Given the description of an element on the screen output the (x, y) to click on. 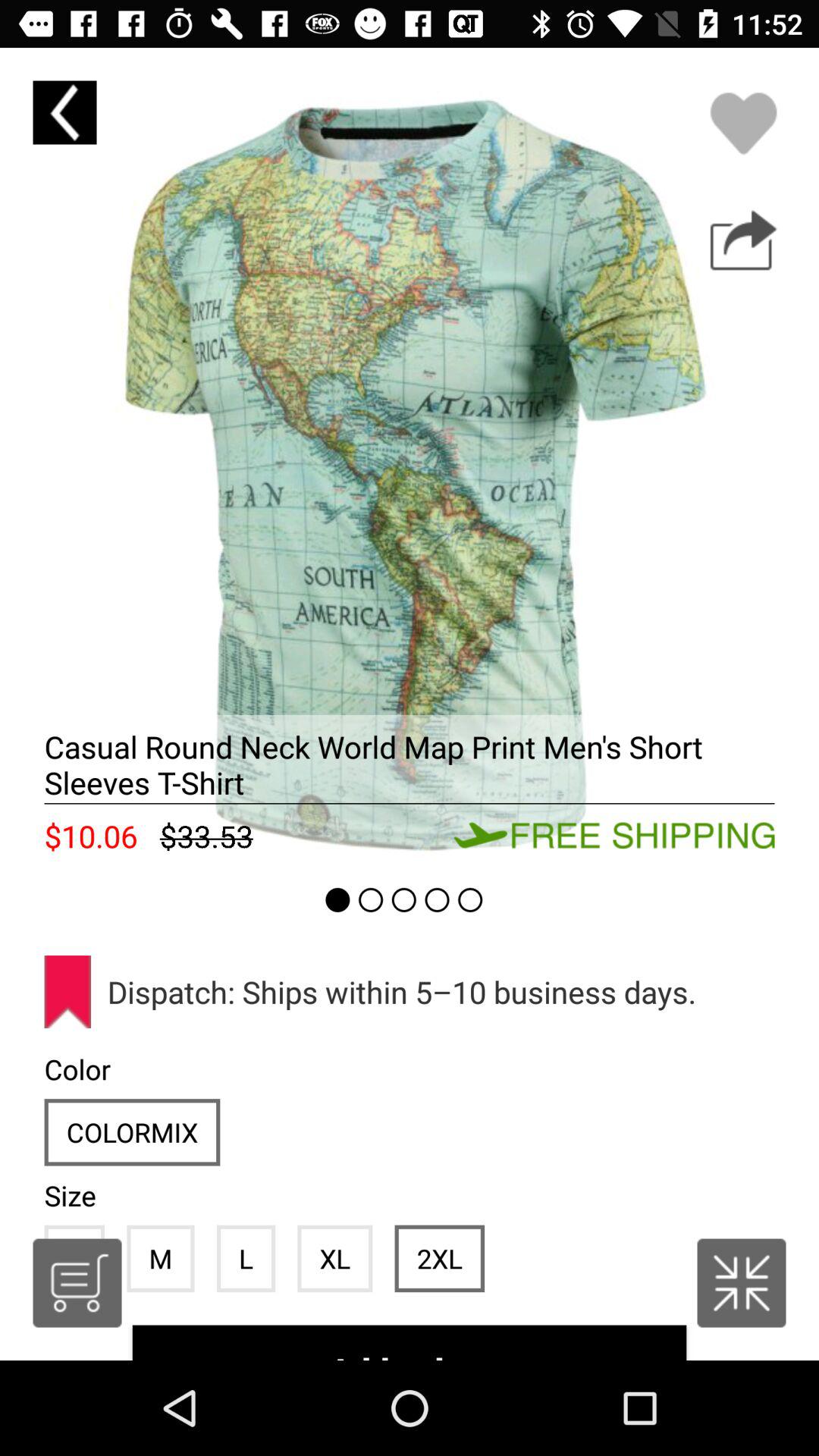
open cart (76, 1282)
